Given the description of an element on the screen output the (x, y) to click on. 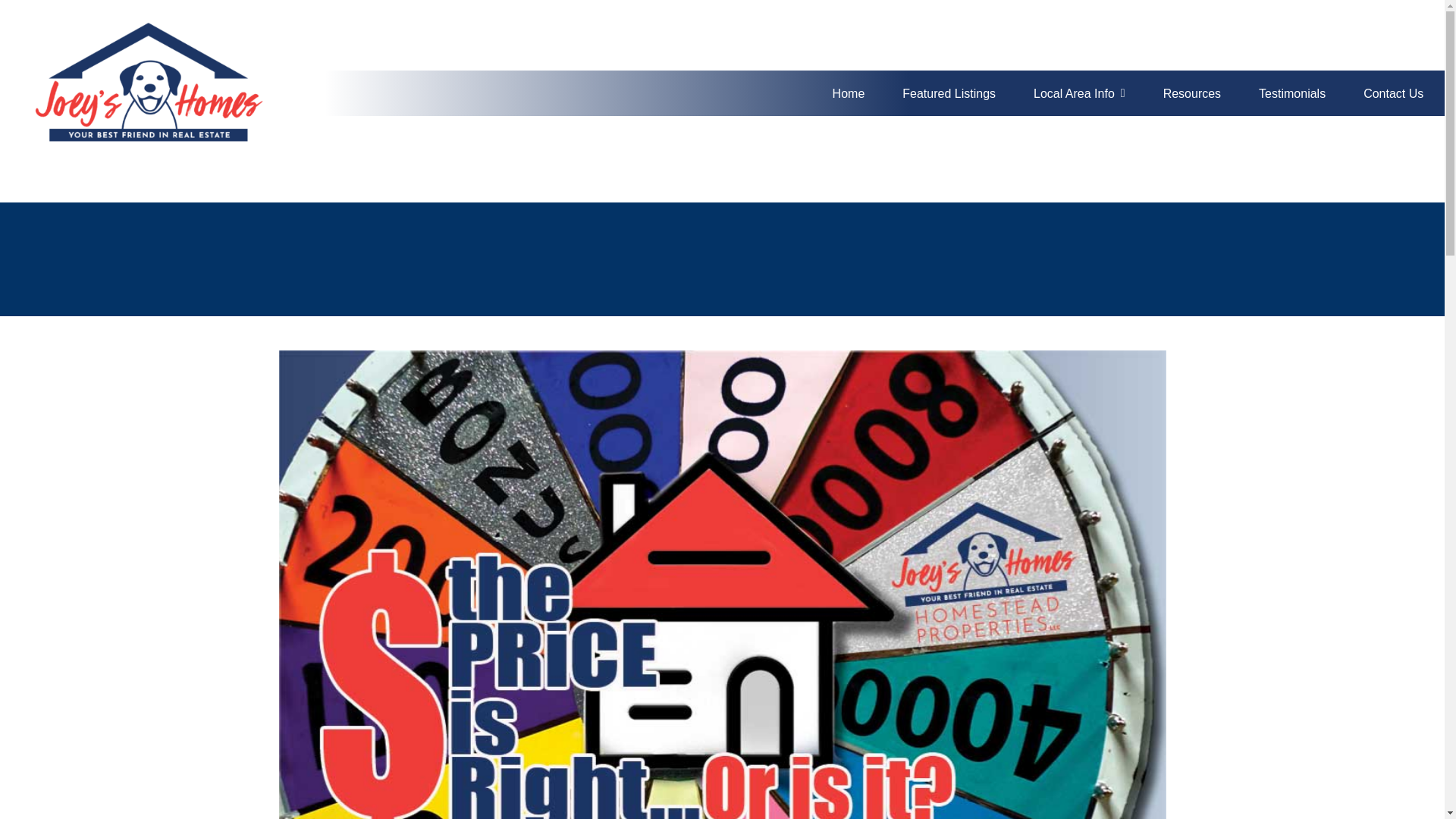
Resources (1192, 93)
Local Area Info (1079, 93)
Testimonials (1291, 93)
Featured Listings (948, 93)
Contact Us (1392, 93)
Home (848, 93)
